Given the description of an element on the screen output the (x, y) to click on. 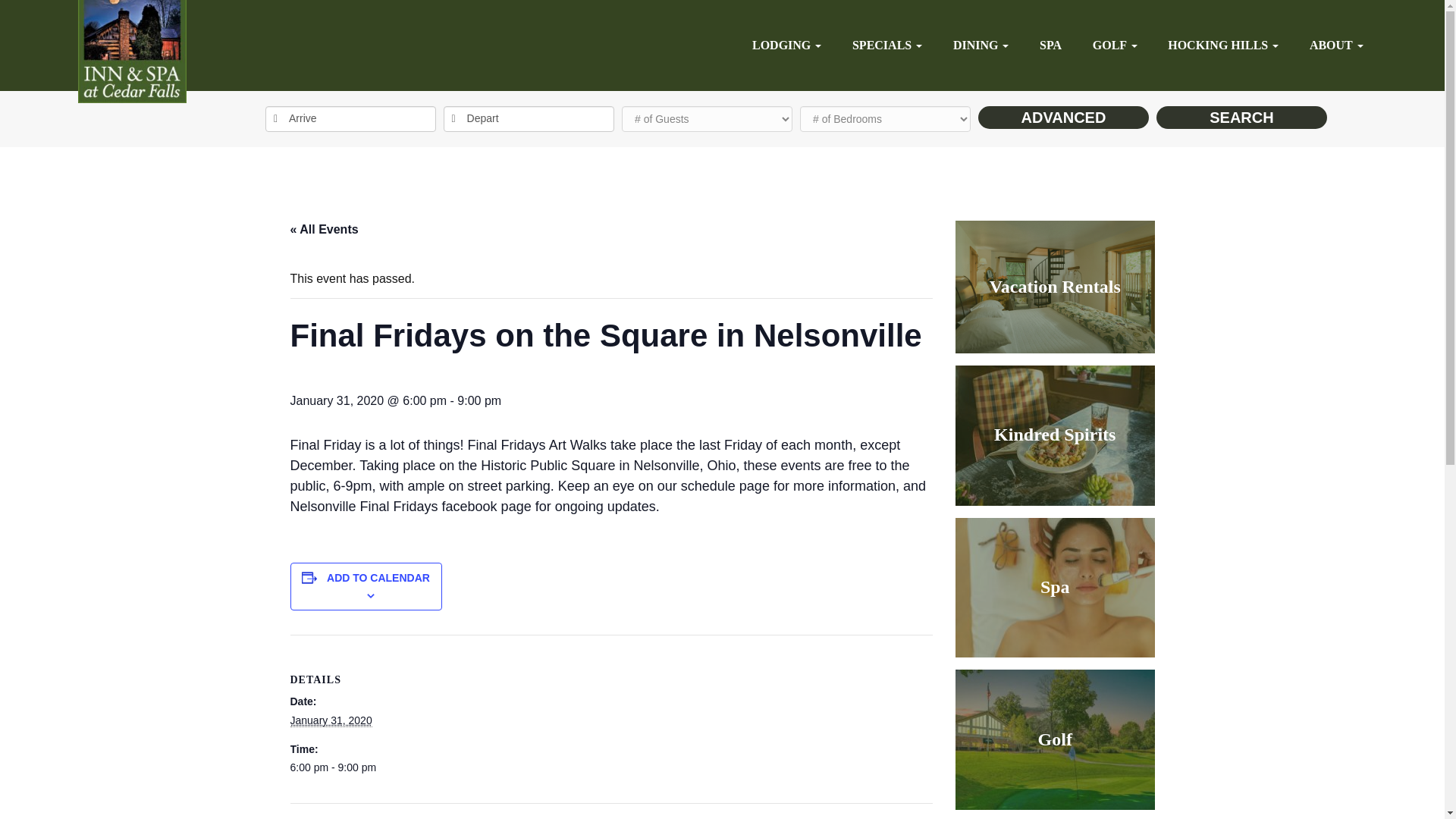
Specials (887, 45)
GOLF (1115, 45)
DINING (981, 45)
Search (1241, 117)
SPA (1050, 45)
home (131, 51)
Dining (981, 45)
ABOUT (1336, 45)
Lodging (786, 45)
LODGING (786, 45)
HOCKING HILLS (1222, 45)
SPECIALS (887, 45)
